Given the description of an element on the screen output the (x, y) to click on. 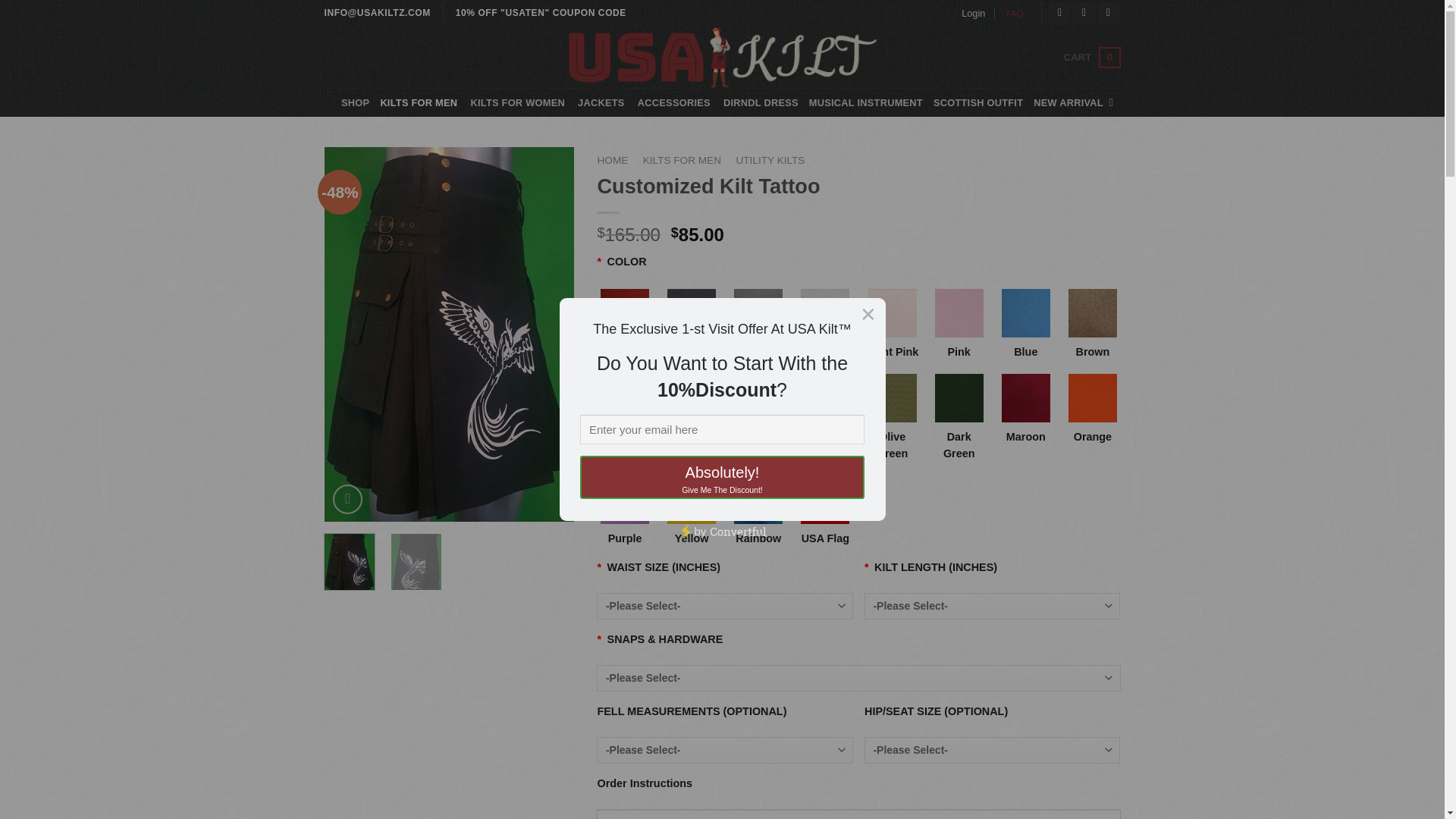
ACCESSORIES (675, 102)
Zoom (347, 499)
Follow on Instagram (1083, 13)
JACKETS (602, 102)
Send us an email (1108, 13)
Follow on Facebook (1059, 13)
KILTS FOR WOMEN (518, 102)
SHOP (354, 102)
Login (972, 13)
KILTS FOR MEN (420, 102)
Cart (1092, 57)
FAQ (1015, 13)
Login (972, 13)
